Given the description of an element on the screen output the (x, y) to click on. 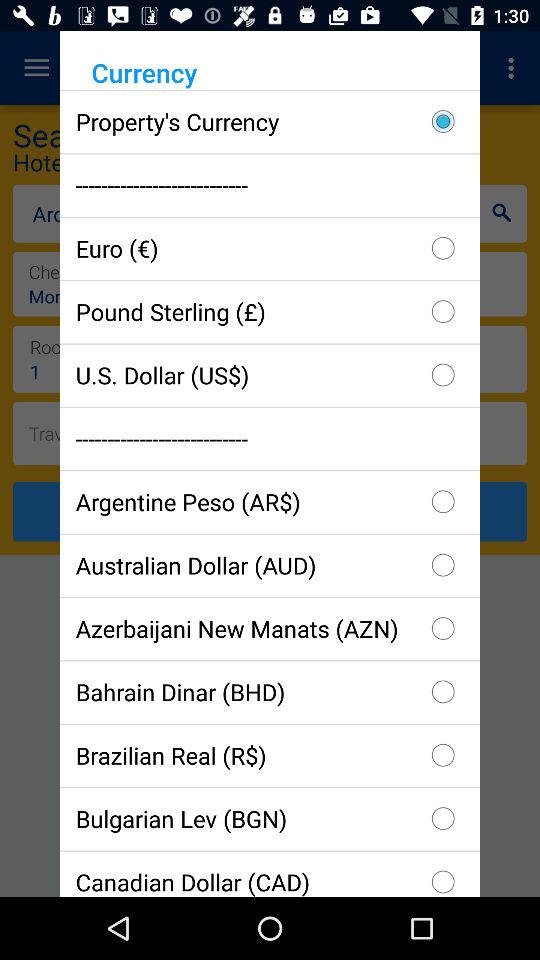
launch the icon above u s dollar icon (270, 311)
